Given the description of an element on the screen output the (x, y) to click on. 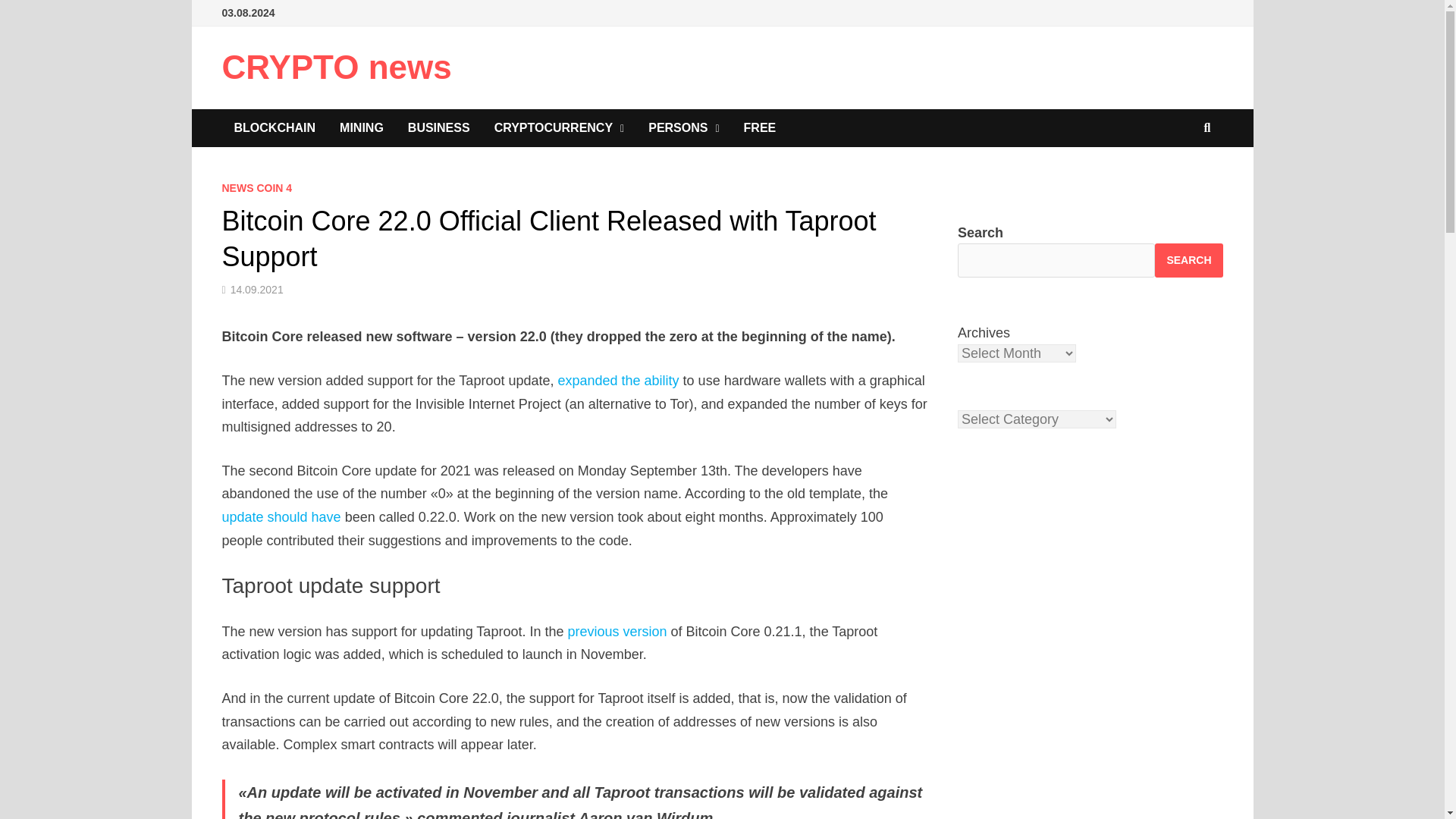
CRYPTO news (336, 66)
PERSONS (683, 127)
FREE (760, 127)
CRYPTOCURRENCY (559, 127)
BUSINESS (438, 127)
MINING (361, 127)
BLOCKCHAIN (274, 127)
